Given the description of an element on the screen output the (x, y) to click on. 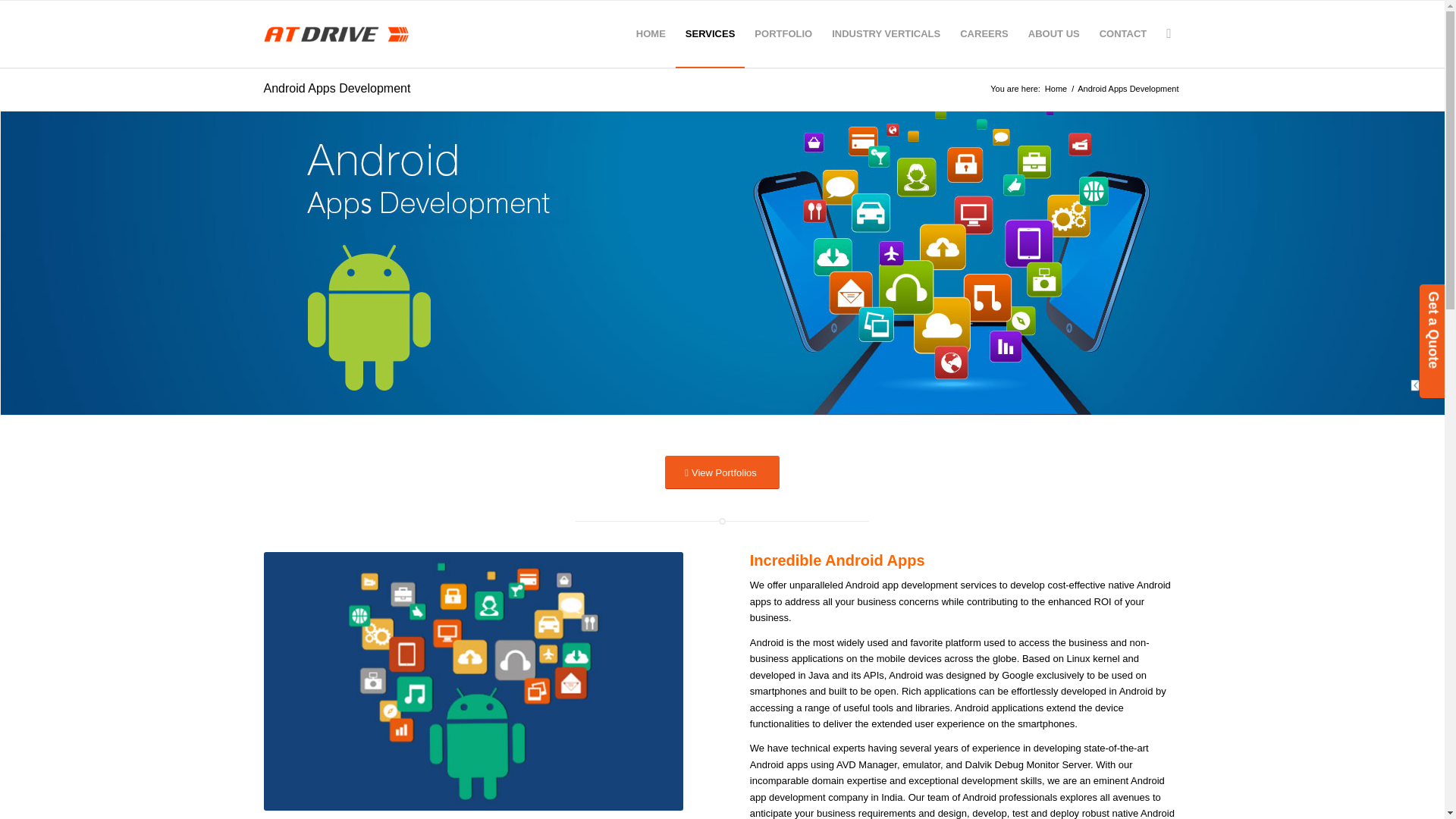
CONTACT (1123, 33)
SERVICES (710, 33)
Permanent Link: Android Apps Development (336, 88)
Incredible-Android-Apps (473, 680)
INDUSTRY VERTICALS (886, 33)
PORTFOLIO (783, 33)
ABOUT US (1053, 33)
CAREERS (983, 33)
